Given the description of an element on the screen output the (x, y) to click on. 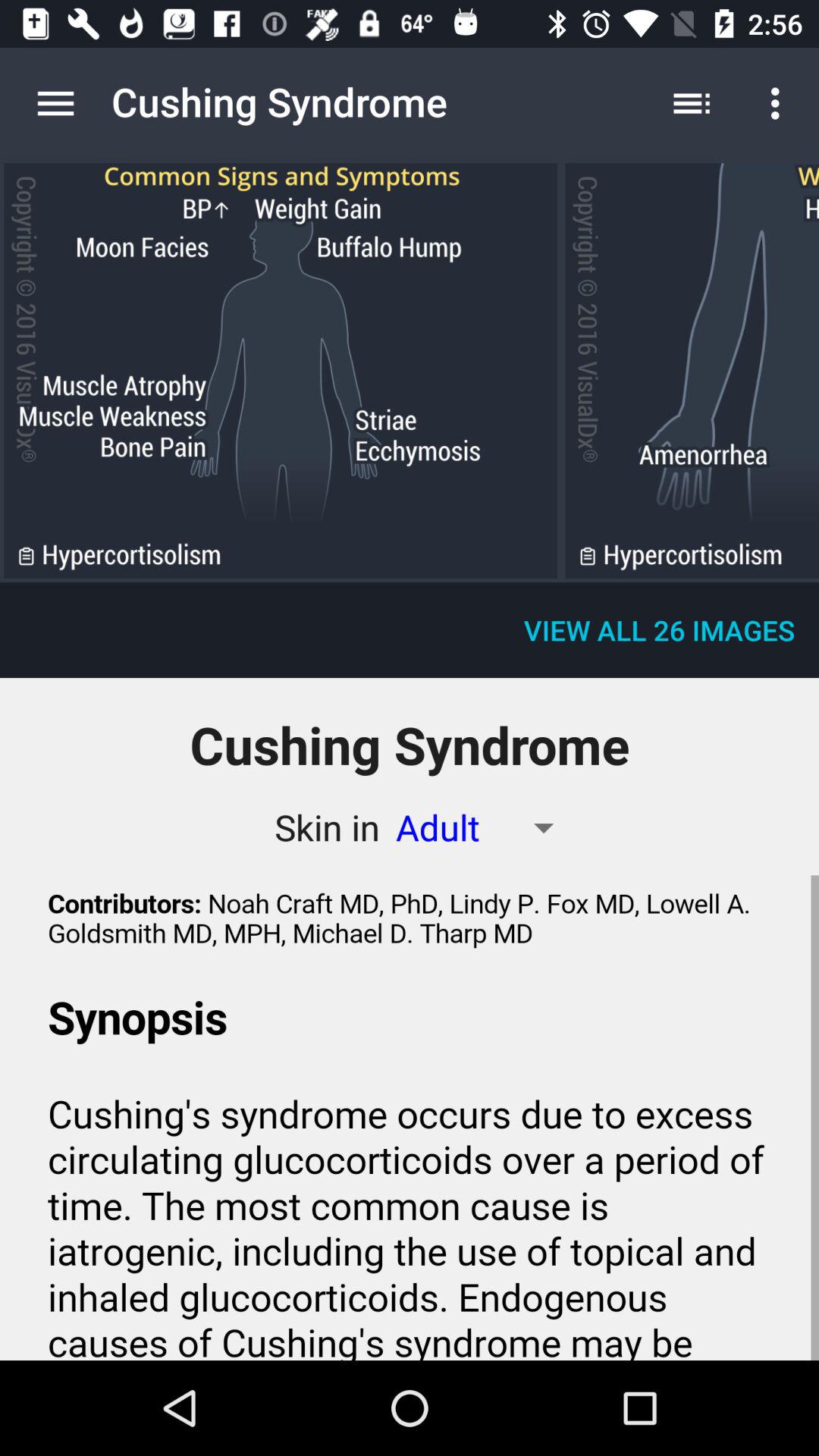
skin the adult of the app (280, 370)
